Given the description of an element on the screen output the (x, y) to click on. 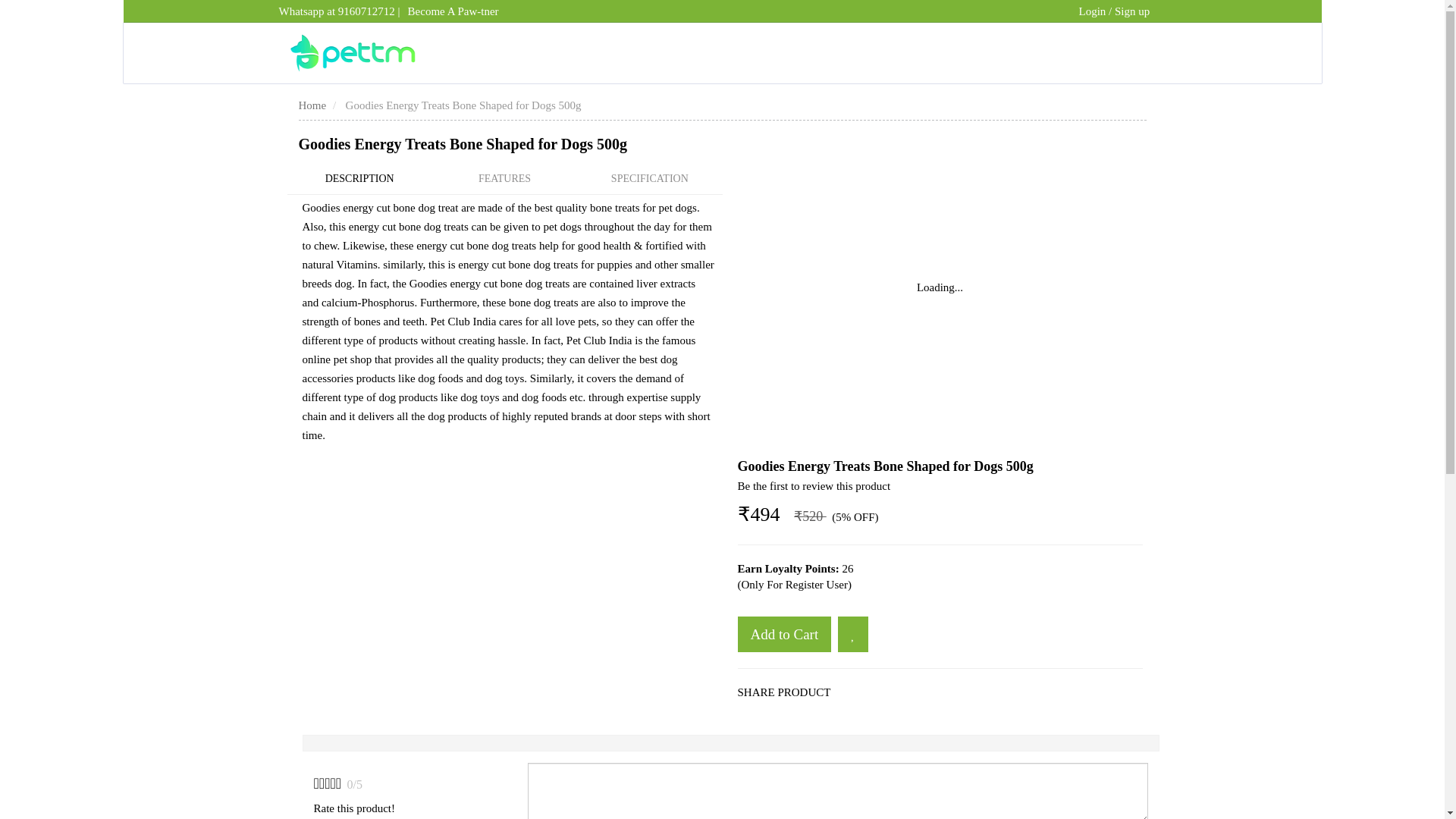
Add to Cart (783, 633)
Become A Paw-tner (453, 10)
Become A Paw-tner (453, 10)
PetTM (351, 53)
